Given the description of an element on the screen output the (x, y) to click on. 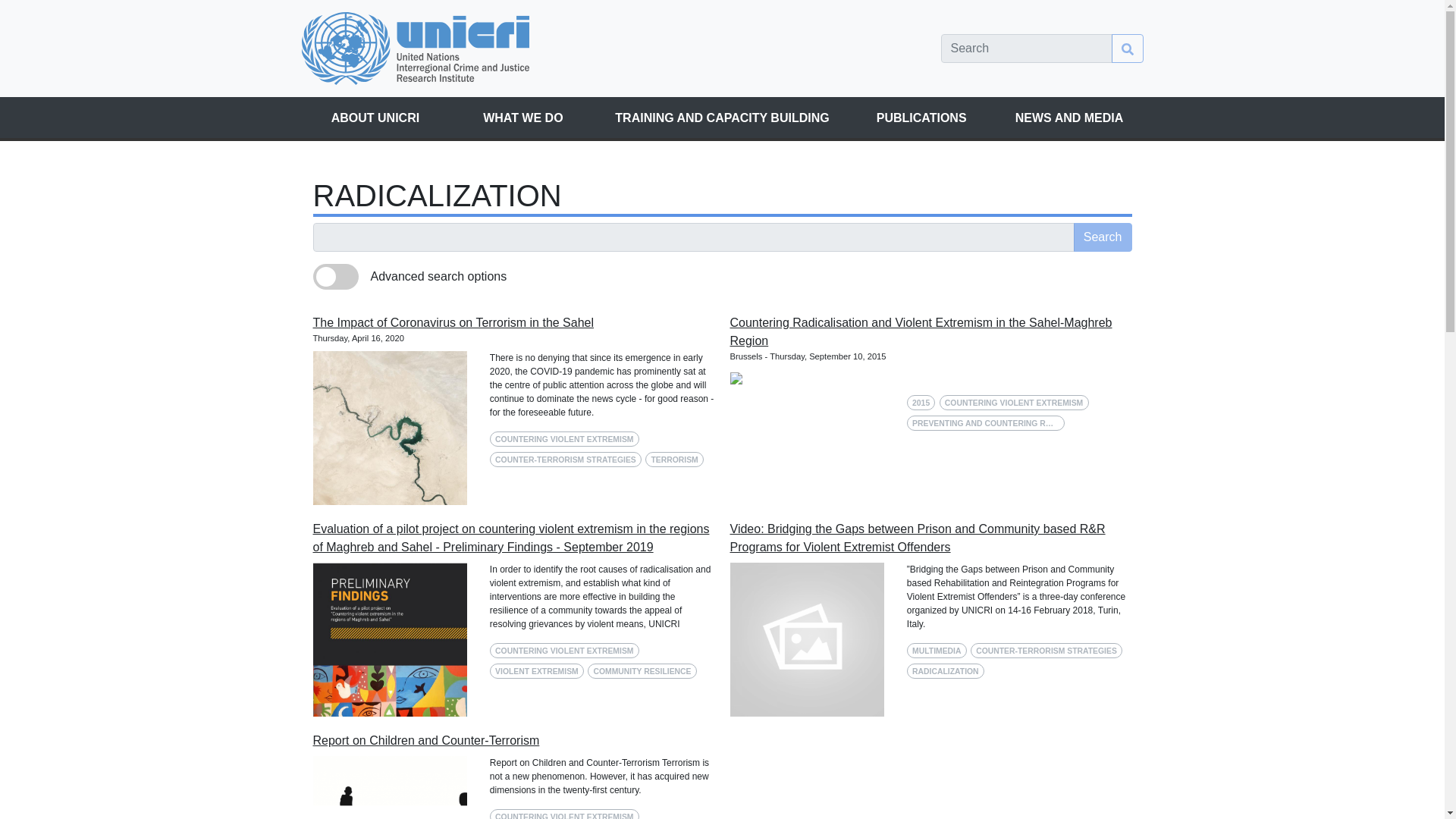
WHAT WE DO (522, 118)
Search (1103, 236)
TRAINING AND CAPACITY BUILDING (721, 118)
ABOUT UNICRI (375, 118)
